Given the description of an element on the screen output the (x, y) to click on. 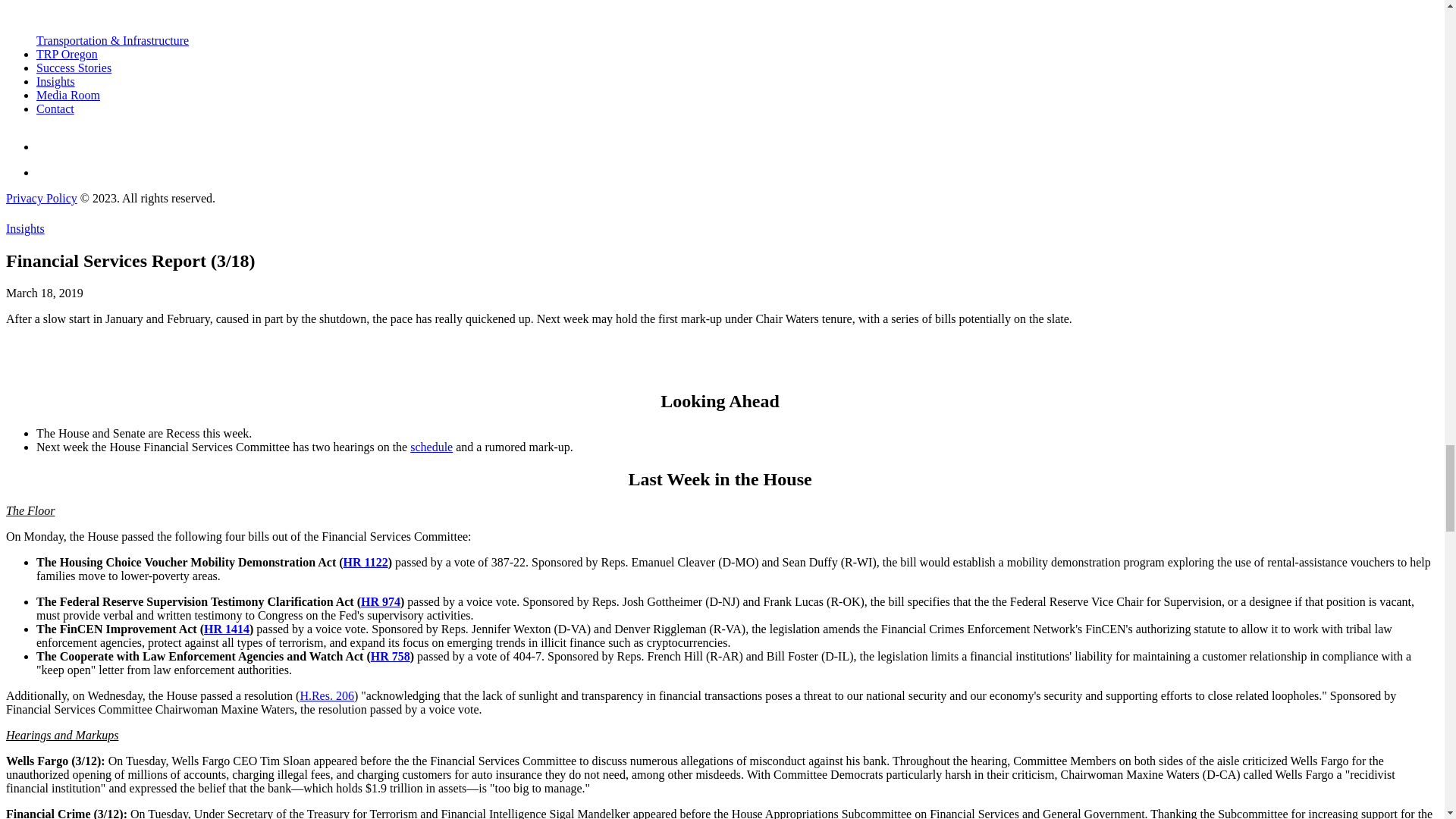
HR 1122 (365, 562)
schedule (431, 446)
H.Res. 206 (326, 695)
Insights (55, 81)
HR 758 (390, 656)
Success Stories (74, 67)
HR 1414 (225, 628)
HR 974 (380, 601)
Media Room (68, 94)
TRP Oregon (66, 53)
Contact (55, 108)
Privacy Policy (41, 197)
